Given the description of an element on the screen output the (x, y) to click on. 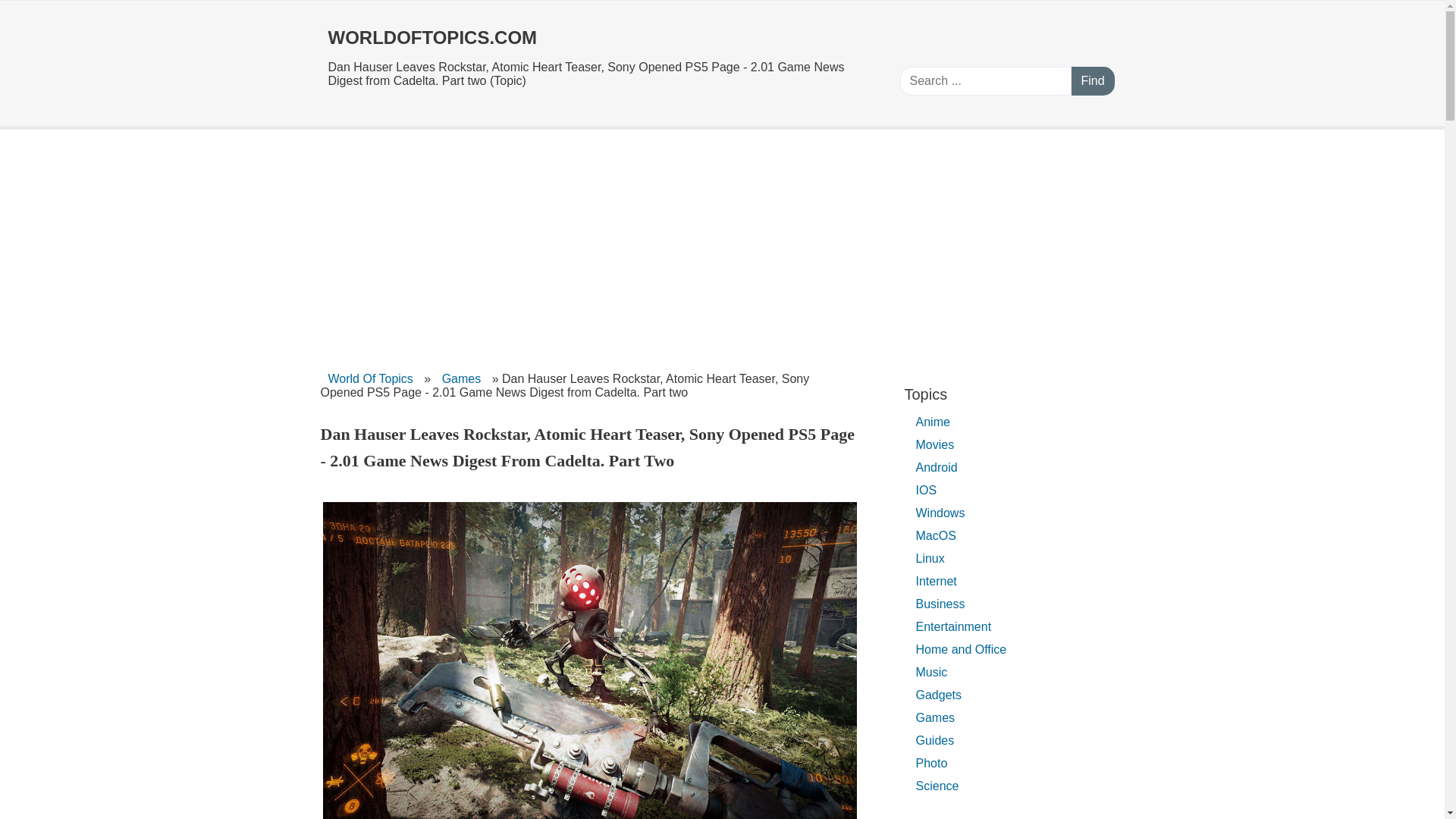
Games (461, 378)
Music (931, 671)
Home and Office (961, 649)
Windows (940, 512)
IOS (926, 490)
Find (1091, 80)
Anime (933, 421)
MacOS (935, 535)
Photo (931, 762)
Find (1091, 80)
Guides (935, 739)
Linux (930, 558)
Gadgets (938, 694)
Games (935, 717)
Internet (935, 581)
